Given the description of an element on the screen output the (x, y) to click on. 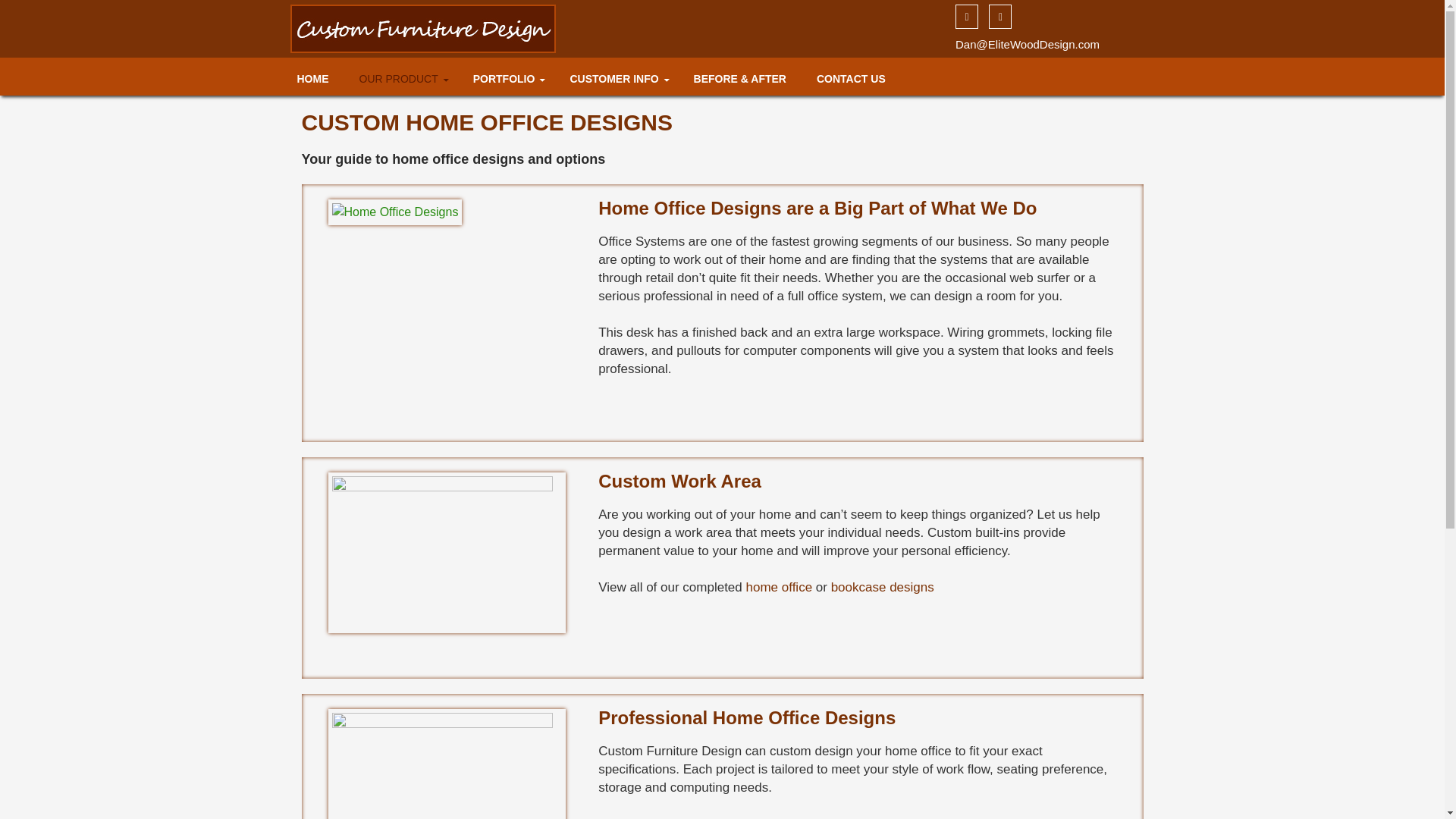
home office (780, 586)
CUSTOMER INFO (616, 78)
PORTFOLIO (506, 78)
OUR PRODUCT (400, 78)
CONTACT US (851, 78)
HOME (312, 78)
bookcase designs (882, 586)
